Given the description of an element on the screen output the (x, y) to click on. 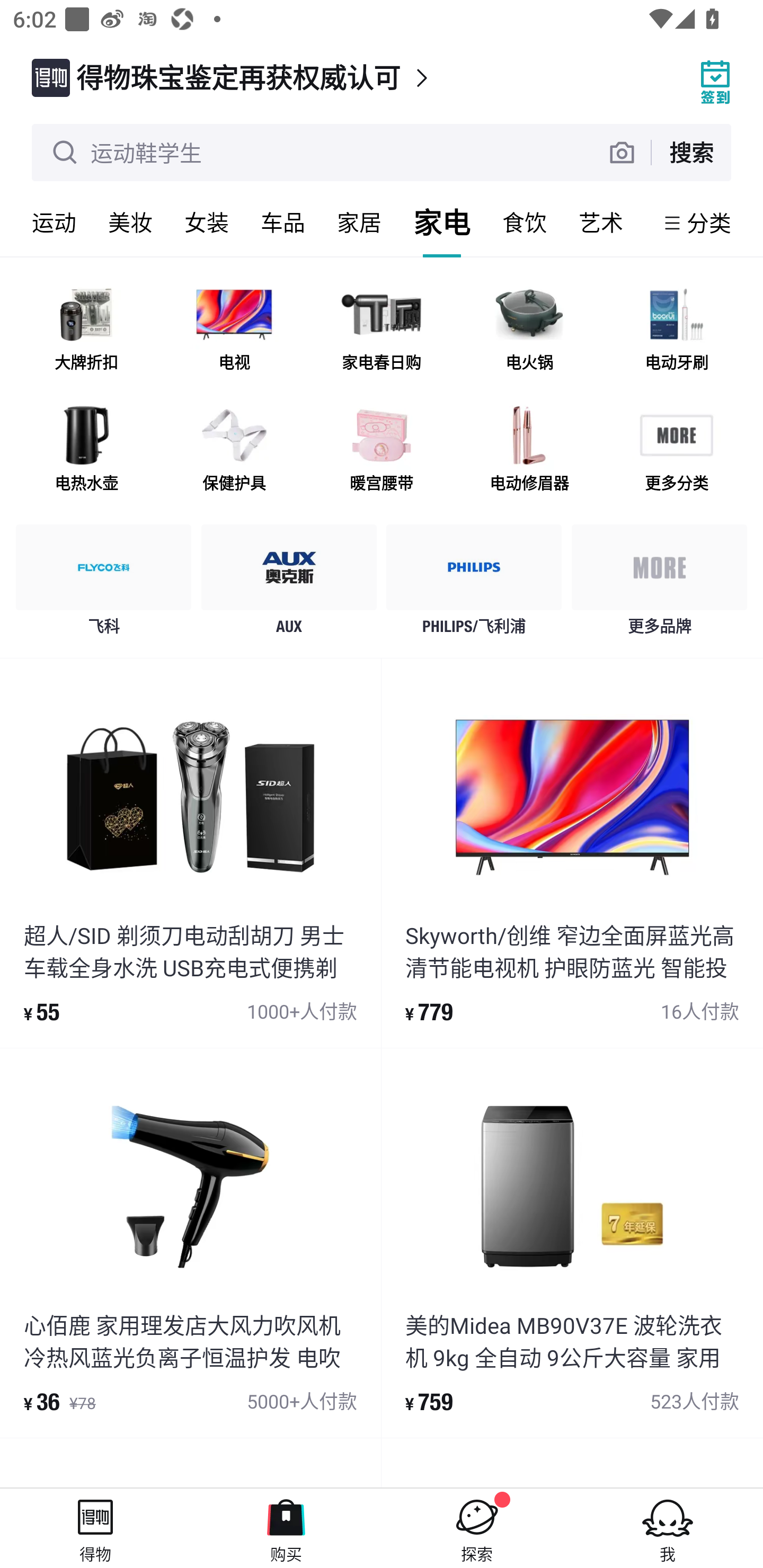
运动鞋学生 搜索 (381, 152)
搜索 (690, 152)
运动 (54, 222)
美妆 (130, 222)
女装 (206, 222)
车品 (282, 222)
家居 (359, 222)
家电 (441, 222)
食饮 (524, 222)
艺术 (601, 222)
分类 (708, 222)
大牌折扣 (86, 329)
电视 (233, 329)
家电春日购 (381, 329)
电火锅 (528, 329)
电动牙刷 (676, 329)
电热水壶 (86, 450)
保健护具 (233, 450)
暖宫腰带 (381, 450)
电动修眉器 (528, 450)
更多分类 (676, 450)
飞科 (103, 583)
AUX (288, 583)
PHILIPS/飞利浦 (473, 583)
更多品牌 (658, 583)
得物 (95, 1528)
购买 (285, 1528)
探索 (476, 1528)
我 (667, 1528)
